Given the description of an element on the screen output the (x, y) to click on. 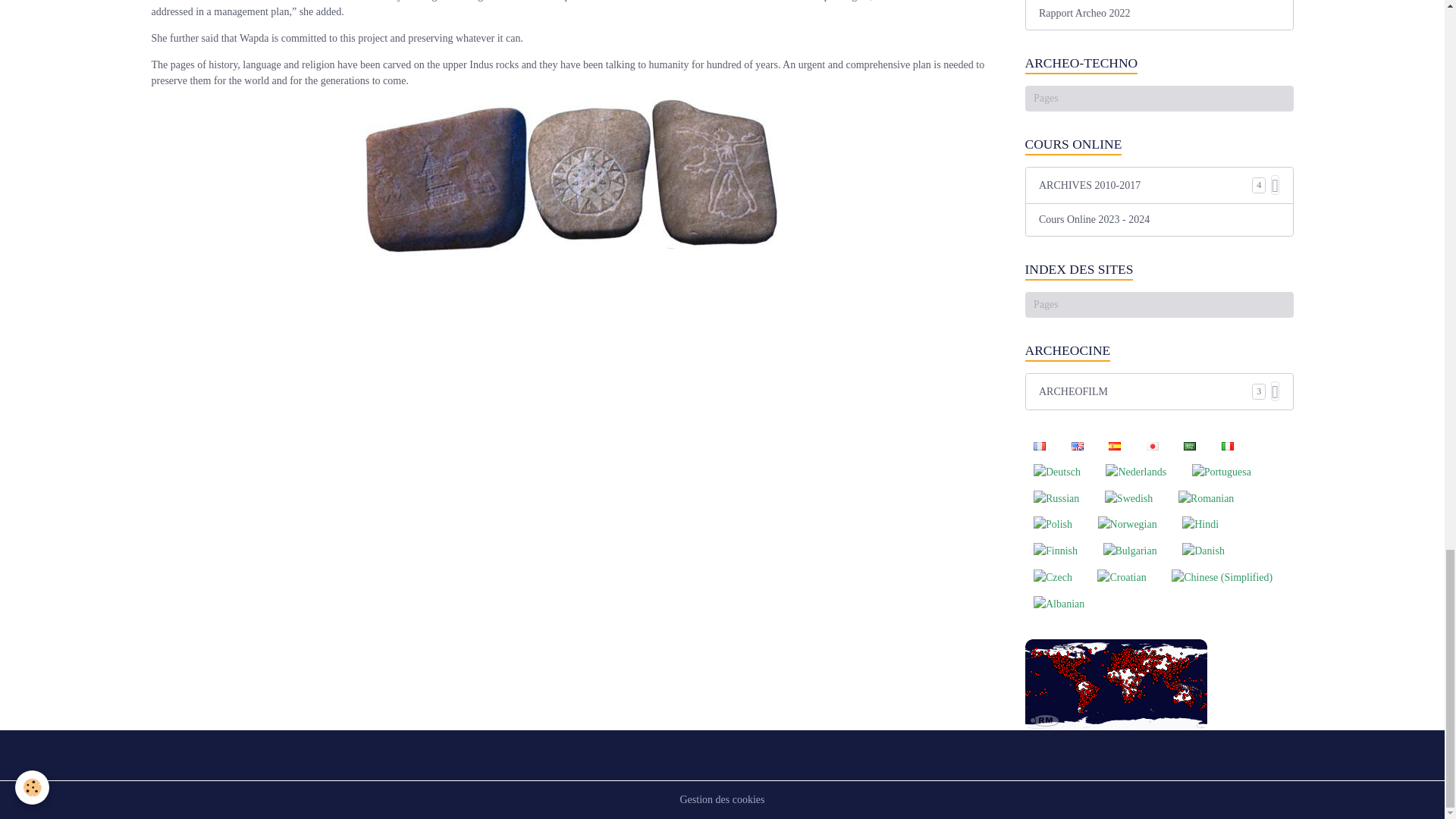
Japanese (1152, 445)
Czech (1053, 576)
Polish (1053, 524)
Russian (1056, 497)
Finnish (1055, 550)
Hindi (1200, 524)
Deutsch (1057, 470)
Arabic (1189, 445)
Bulgarian (1130, 550)
Norwegian (1127, 524)
English (1077, 445)
Portuguesa (1220, 470)
Nederlands (1135, 470)
Swedish (1128, 497)
Danish (1203, 550)
